Given the description of an element on the screen output the (x, y) to click on. 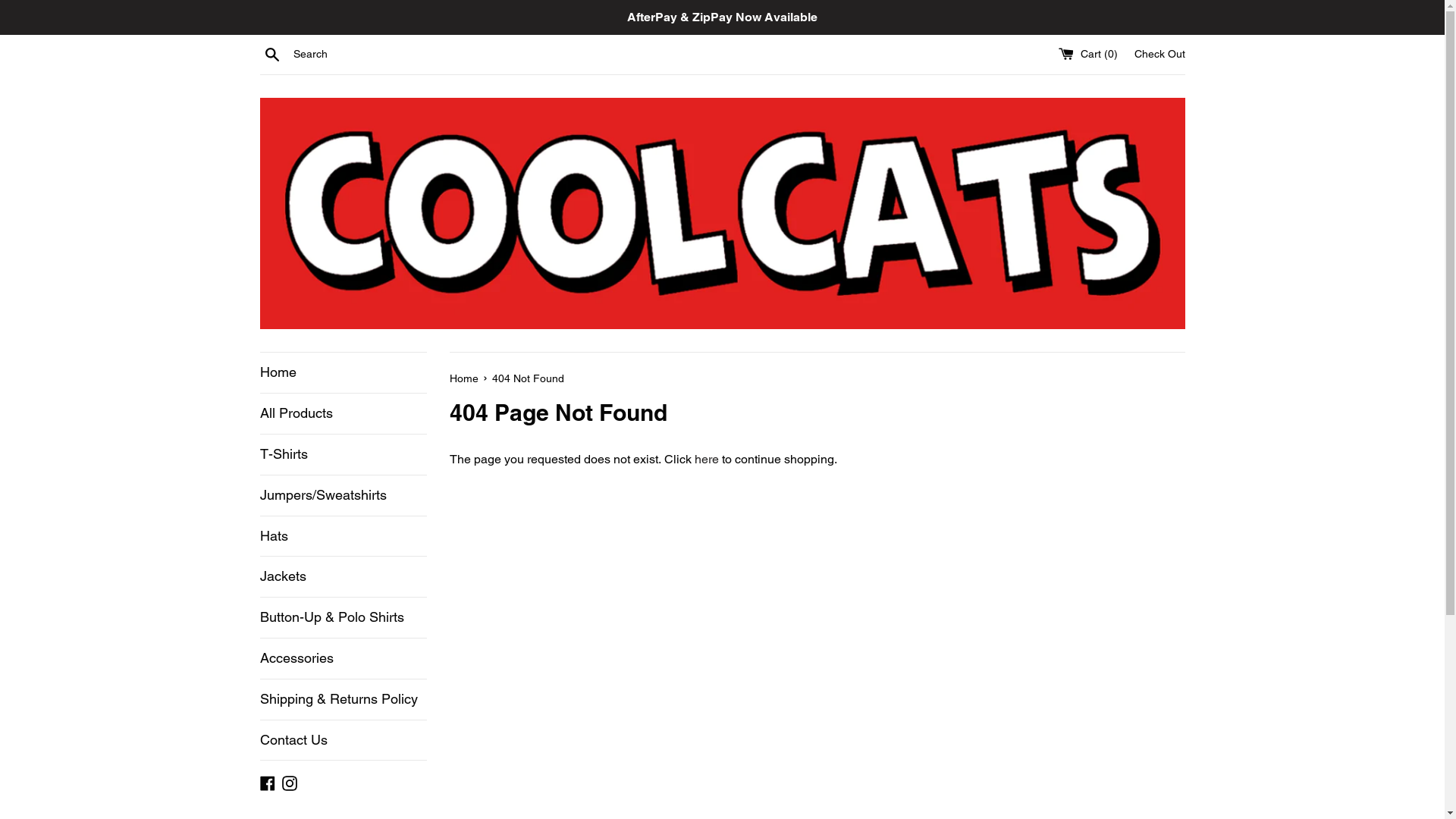
Jumpers/Sweatshirts Element type: text (342, 495)
Instagram Element type: text (289, 782)
Home Element type: text (342, 372)
Cart (0) Element type: text (1089, 53)
Check Out Element type: text (1159, 53)
here Element type: text (706, 458)
Button-Up & Polo Shirts Element type: text (342, 617)
Home Element type: text (464, 378)
Facebook Element type: text (266, 782)
T-Shirts Element type: text (342, 454)
Accessories Element type: text (342, 658)
Jackets Element type: text (342, 576)
Search Element type: text (271, 53)
Hats Element type: text (342, 536)
Shipping & Returns Policy Element type: text (342, 699)
Contact Us Element type: text (342, 740)
All Products Element type: text (342, 413)
